Given the description of an element on the screen output the (x, y) to click on. 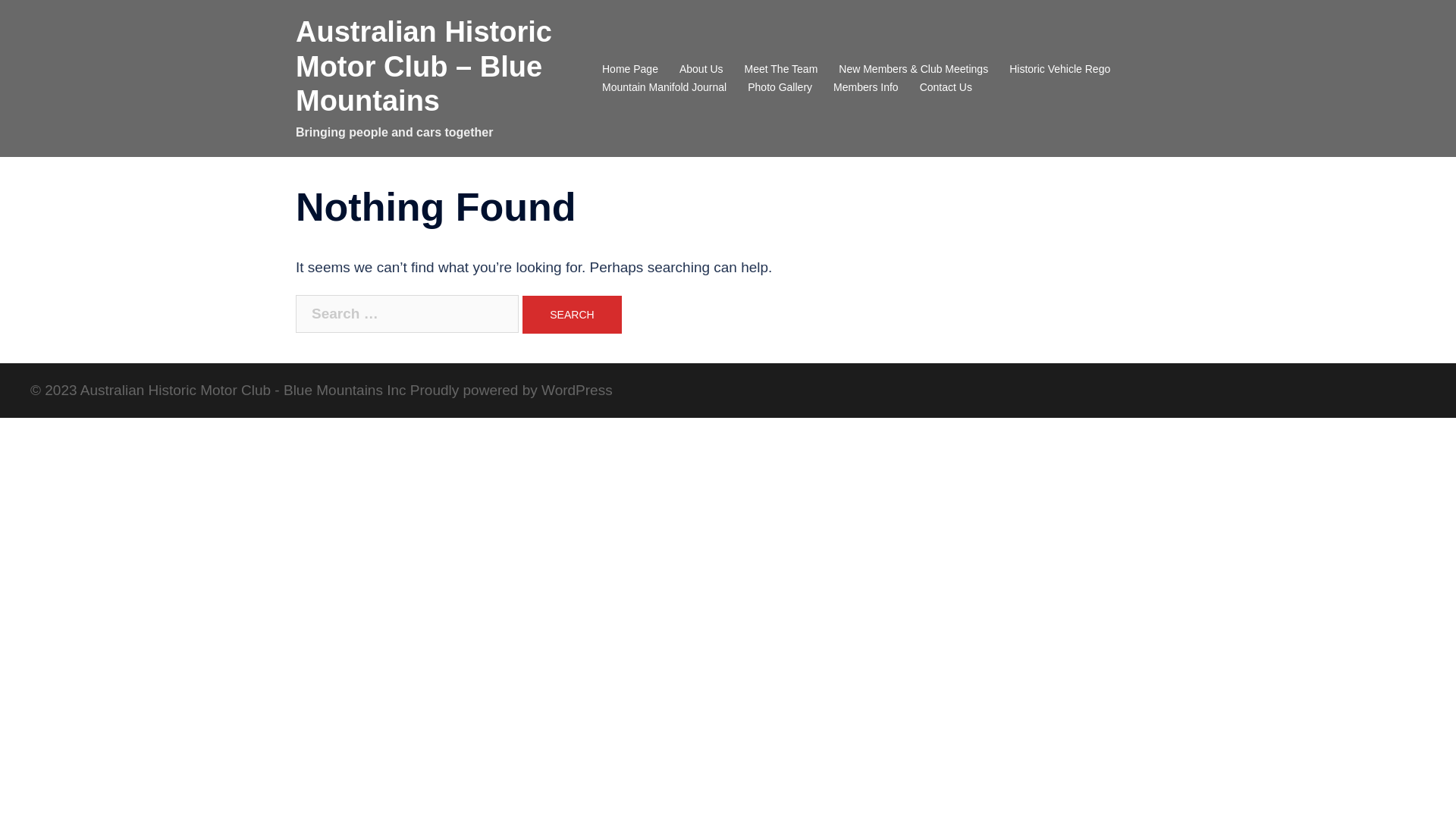
Members Info Element type: text (865, 87)
Historic Vehicle Rego Element type: text (1059, 69)
Search Element type: text (571, 314)
New Members & Club Meetings Element type: text (913, 69)
About Us Element type: text (701, 69)
Mountain Manifold Journal Element type: text (664, 87)
Photo Gallery Element type: text (779, 87)
Home Page Element type: text (630, 69)
Contact Us Element type: text (945, 87)
Meet The Team Element type: text (781, 69)
